Given the description of an element on the screen output the (x, y) to click on. 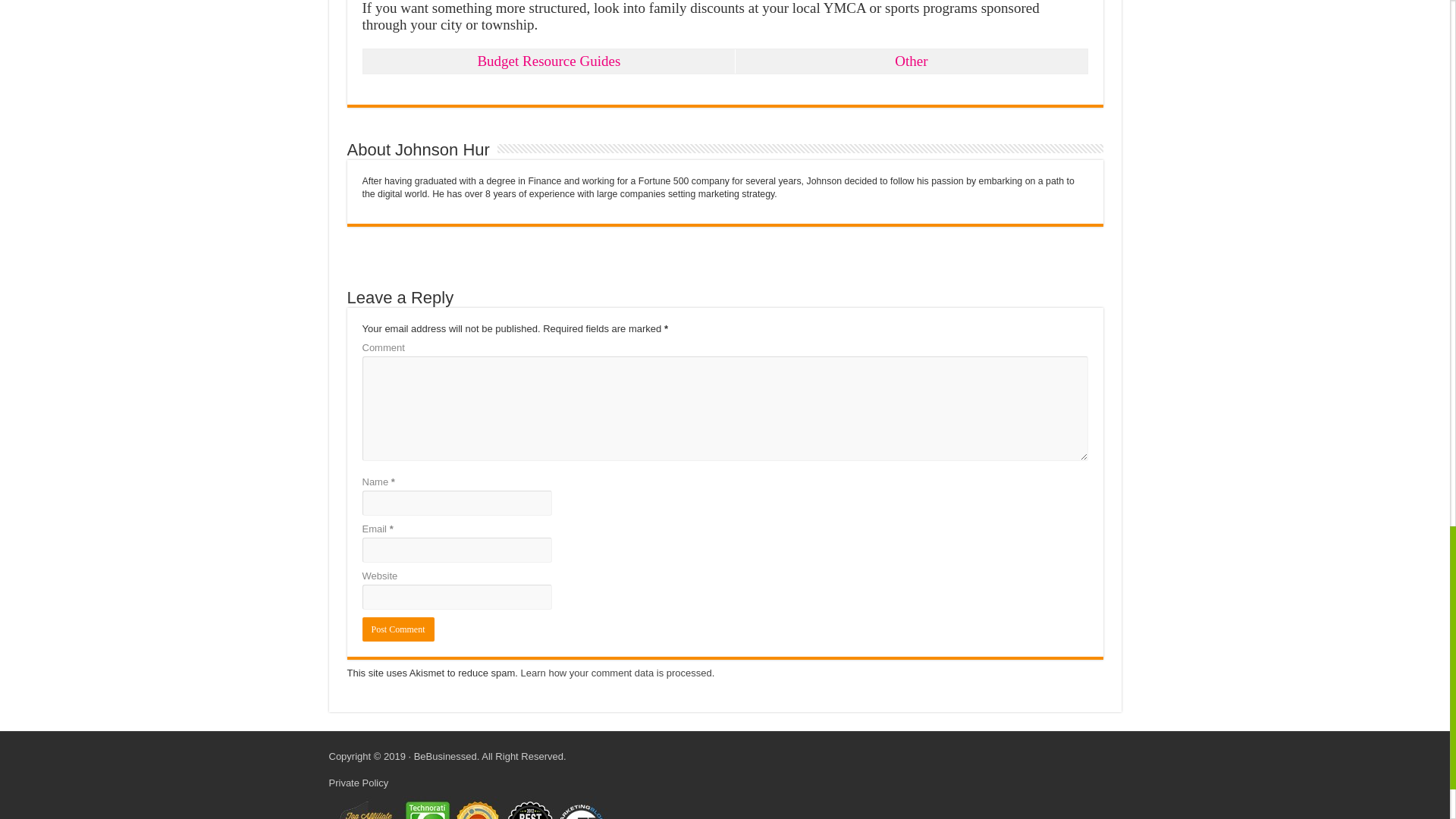
Private Policy (358, 782)
Post Comment (397, 629)
